Given the description of an element on the screen output the (x, y) to click on. 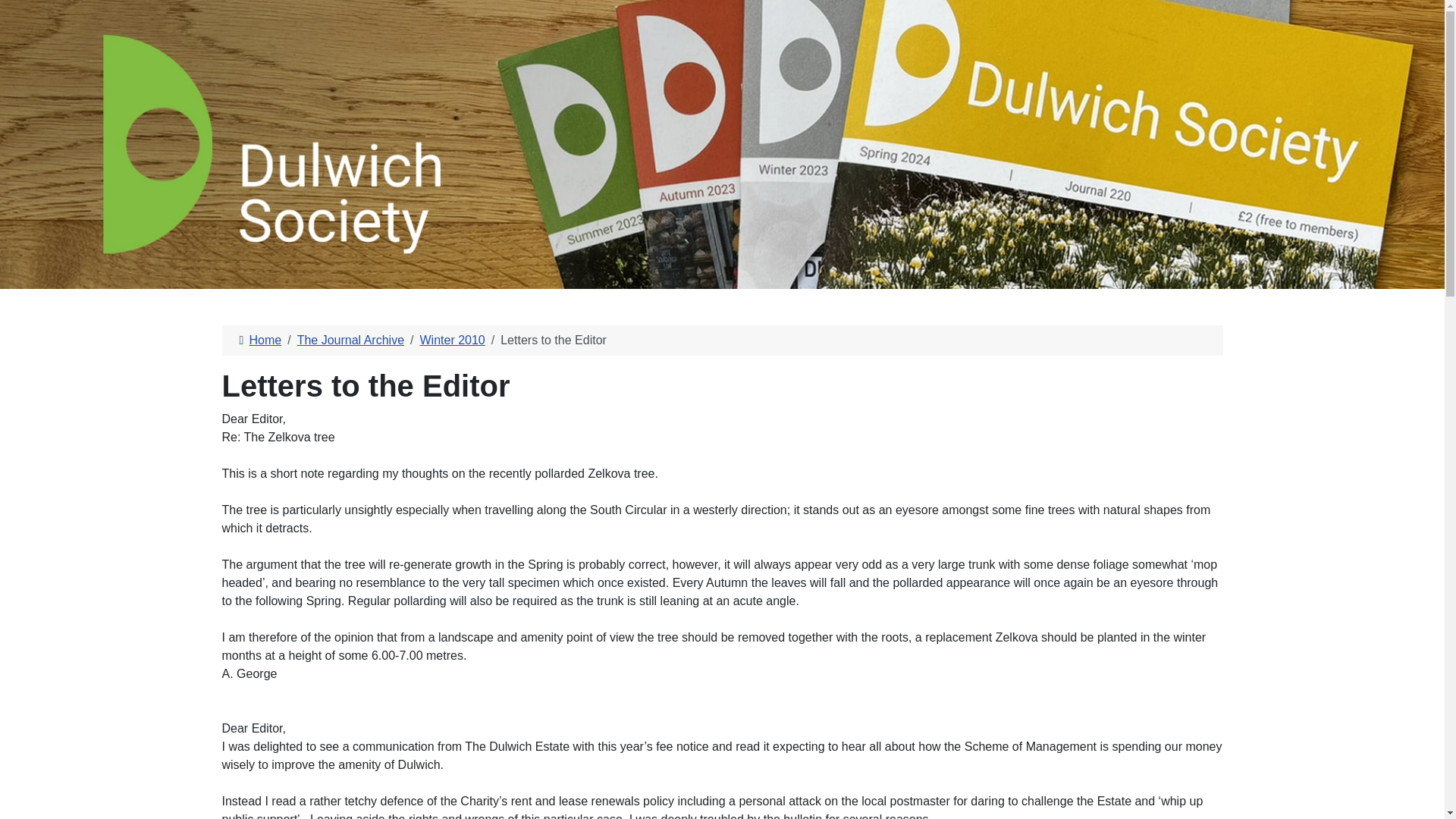
Winter 2010 (452, 339)
The Journal Archive (350, 339)
Home (264, 339)
